Given the description of an element on the screen output the (x, y) to click on. 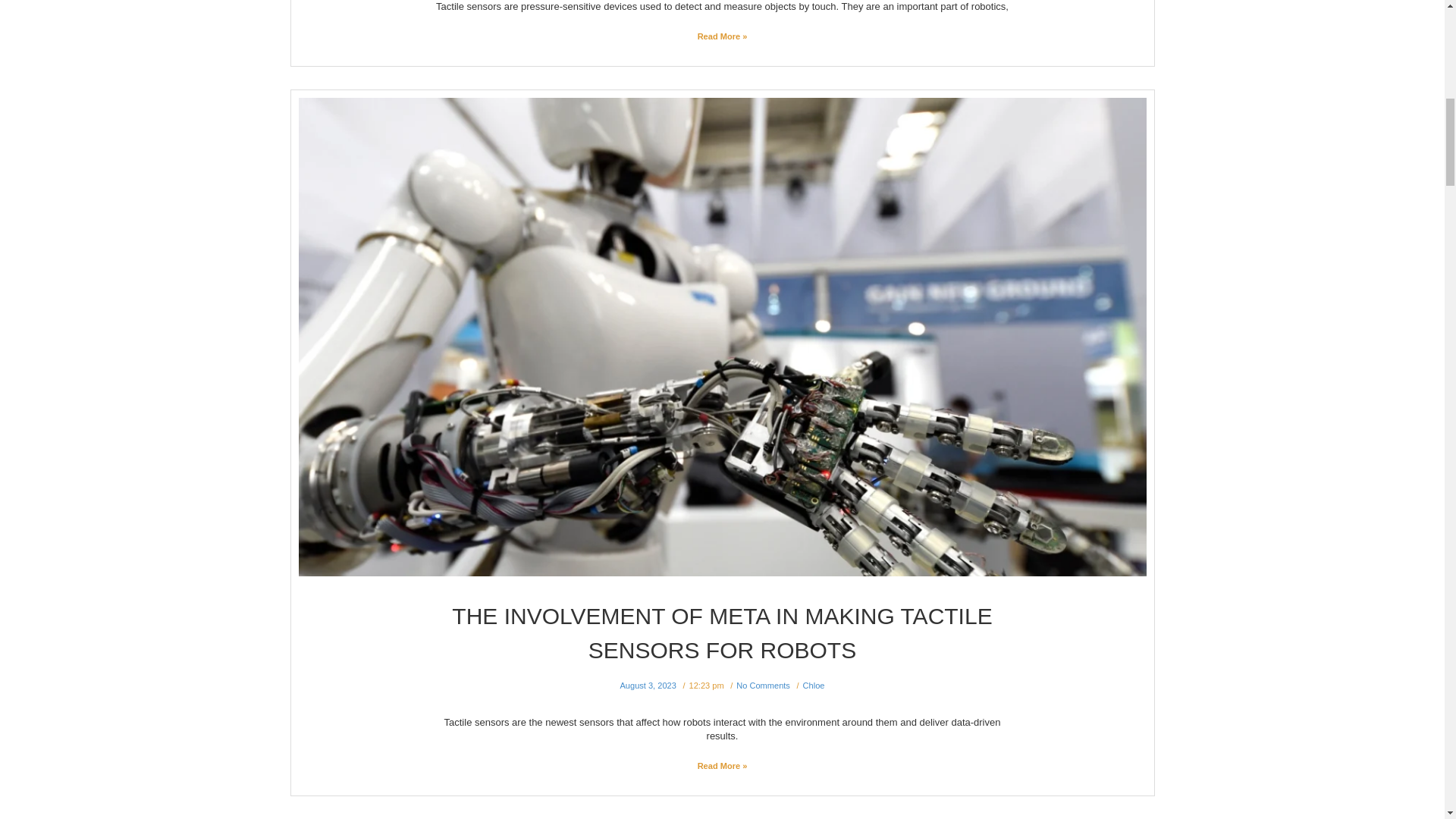
Chloe (814, 685)
August 3, 2023 (648, 685)
No Comments (763, 685)
THE INVOLVEMENT OF META IN MAKING TACTILE SENSORS FOR ROBOTS (721, 632)
